Given the description of an element on the screen output the (x, y) to click on. 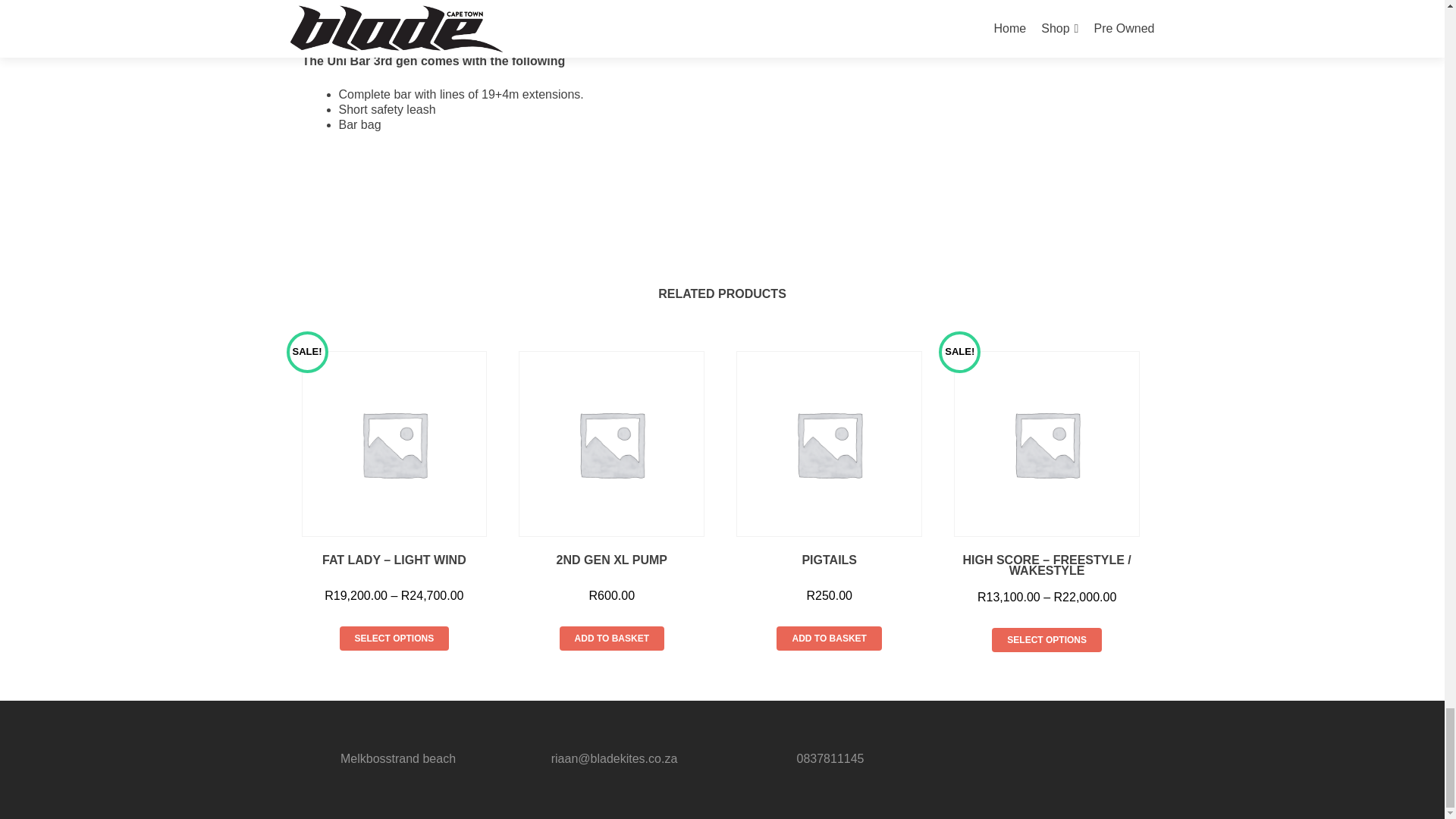
0837811145 (829, 758)
SELECT OPTIONS (1046, 639)
ADD TO BASKET (611, 638)
SELECT OPTIONS (394, 638)
ADD TO BASKET (828, 638)
